Given the description of an element on the screen output the (x, y) to click on. 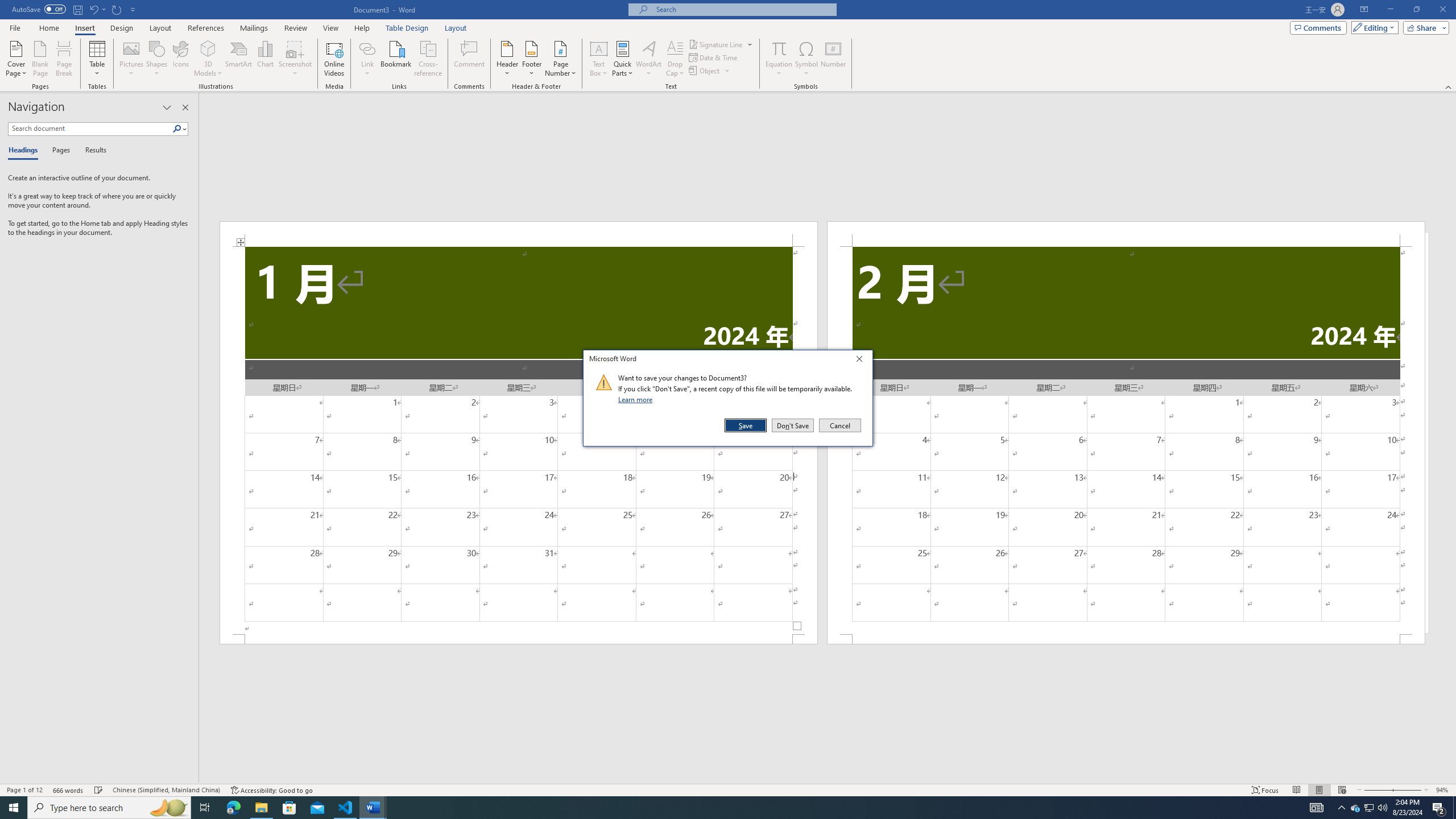
Page Break (63, 58)
Cover Page (16, 58)
Table (97, 58)
Cross-reference... (428, 58)
